Given the description of an element on the screen output the (x, y) to click on. 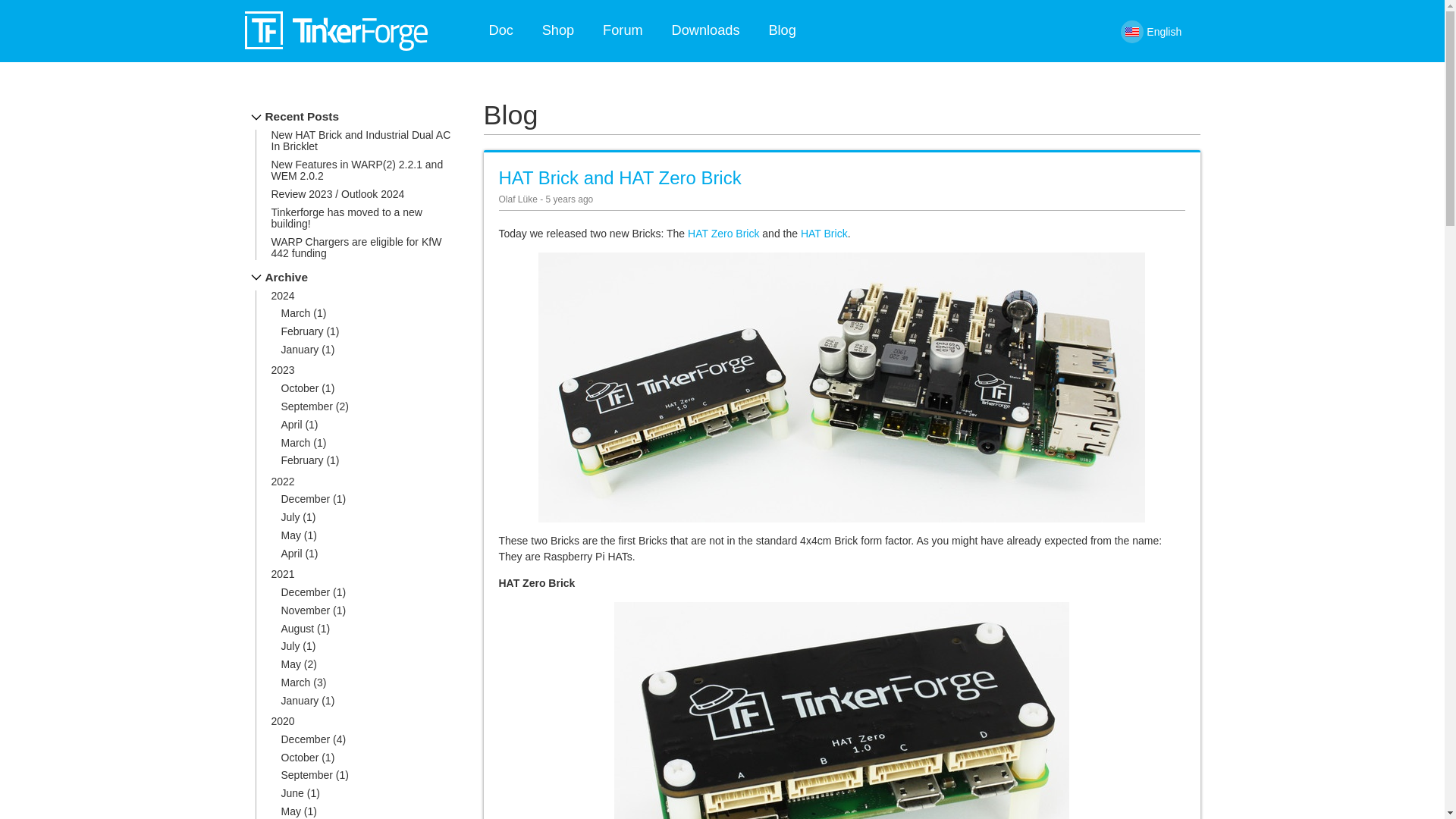
Archive (278, 277)
Tinkerforge has moved to a new building! (346, 218)
2023 (282, 369)
English (1167, 31)
January (299, 349)
2021 (282, 573)
April (291, 553)
February (302, 331)
Blog (781, 29)
Doc (500, 29)
May (290, 535)
March (295, 442)
Forum (621, 29)
May (290, 664)
WARP Chargers are eligible for KfW 442 funding (356, 247)
